Given the description of an element on the screen output the (x, y) to click on. 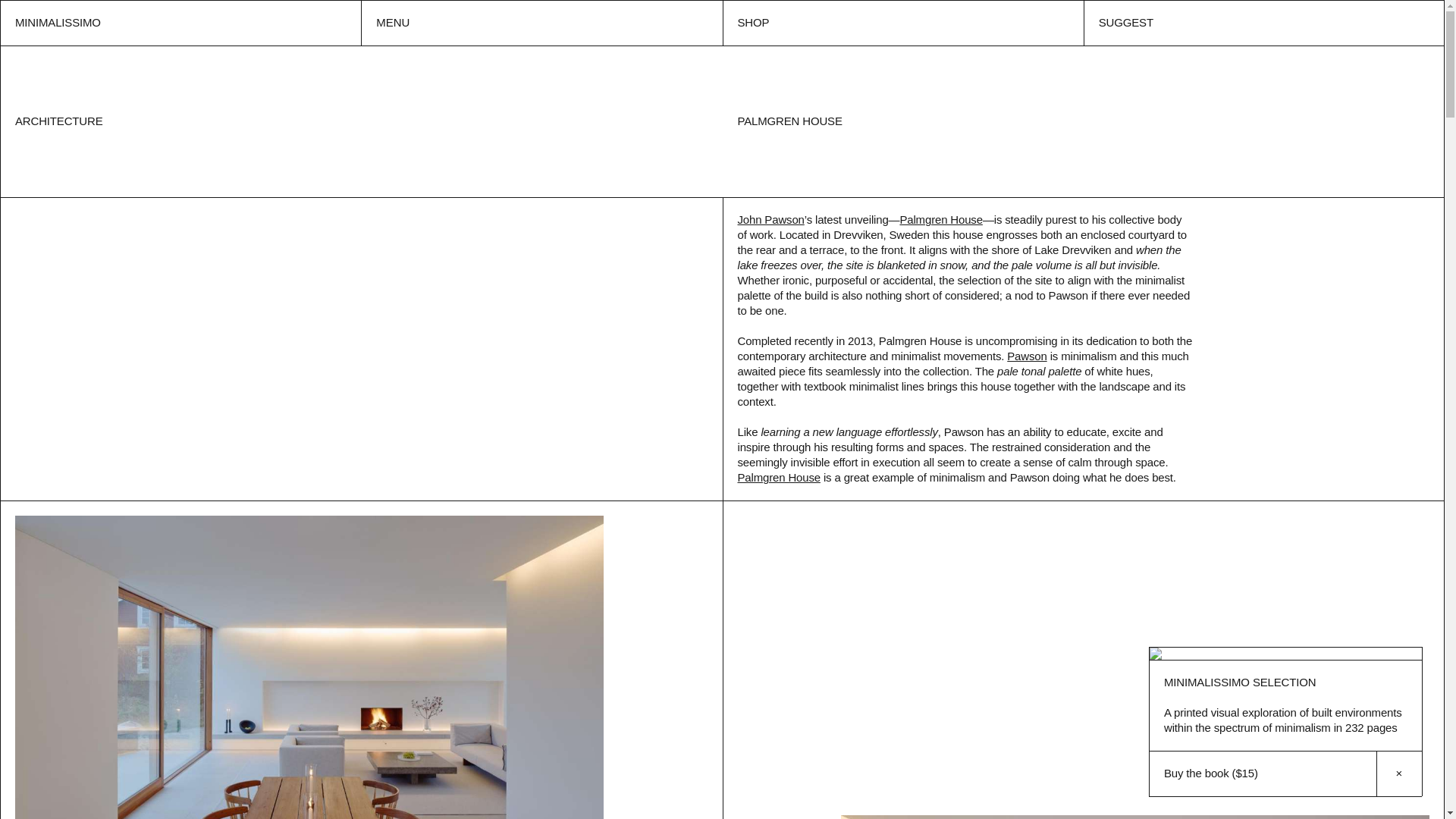
ARCHITECTURE (58, 120)
Pawson (1026, 355)
MINIMALISSIMO (180, 22)
John Pawson (769, 219)
MENU (541, 22)
SHOP (902, 22)
Palmgren House (940, 219)
Palmgren House (777, 477)
